Given the description of an element on the screen output the (x, y) to click on. 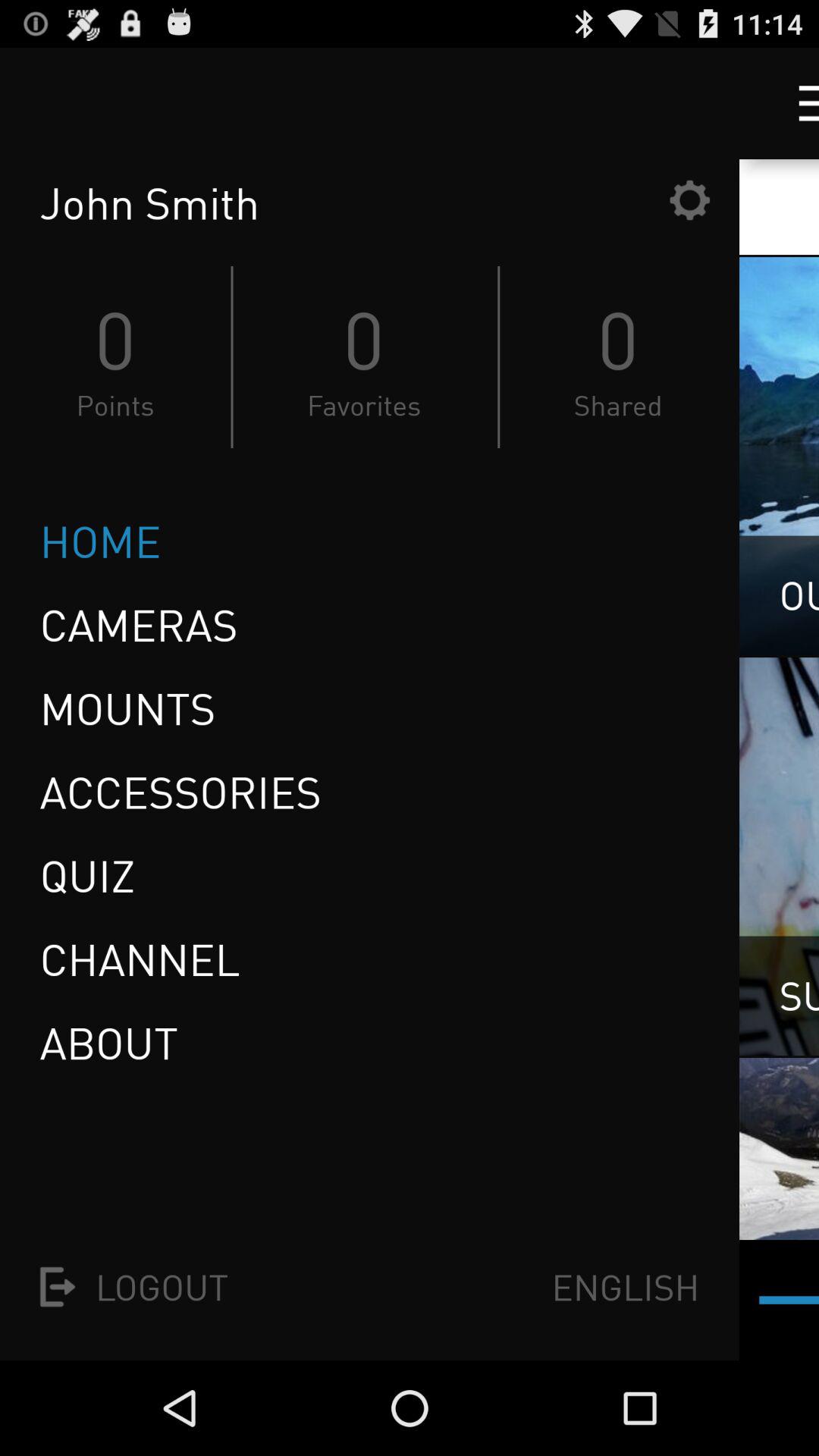
open english icon (625, 1286)
